Given the description of an element on the screen output the (x, y) to click on. 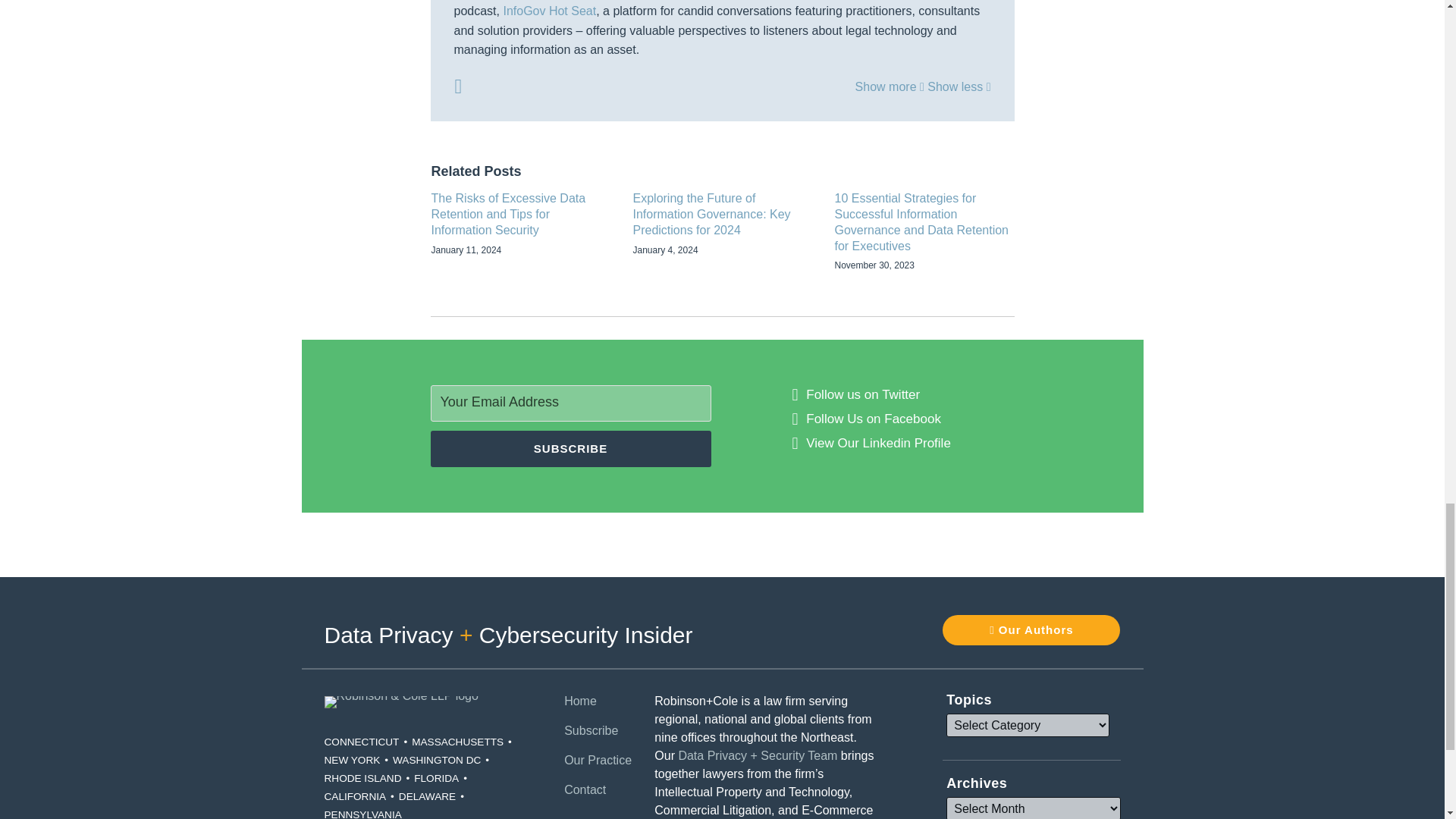
View Our Linkedin Profile (878, 443)
Subscribe (570, 448)
Follow Us on Facebook (873, 419)
InfoGov Hot Seat (548, 10)
Show less (958, 86)
Subscribe (570, 448)
Follow us on Twitter (863, 394)
